Given the description of an element on the screen output the (x, y) to click on. 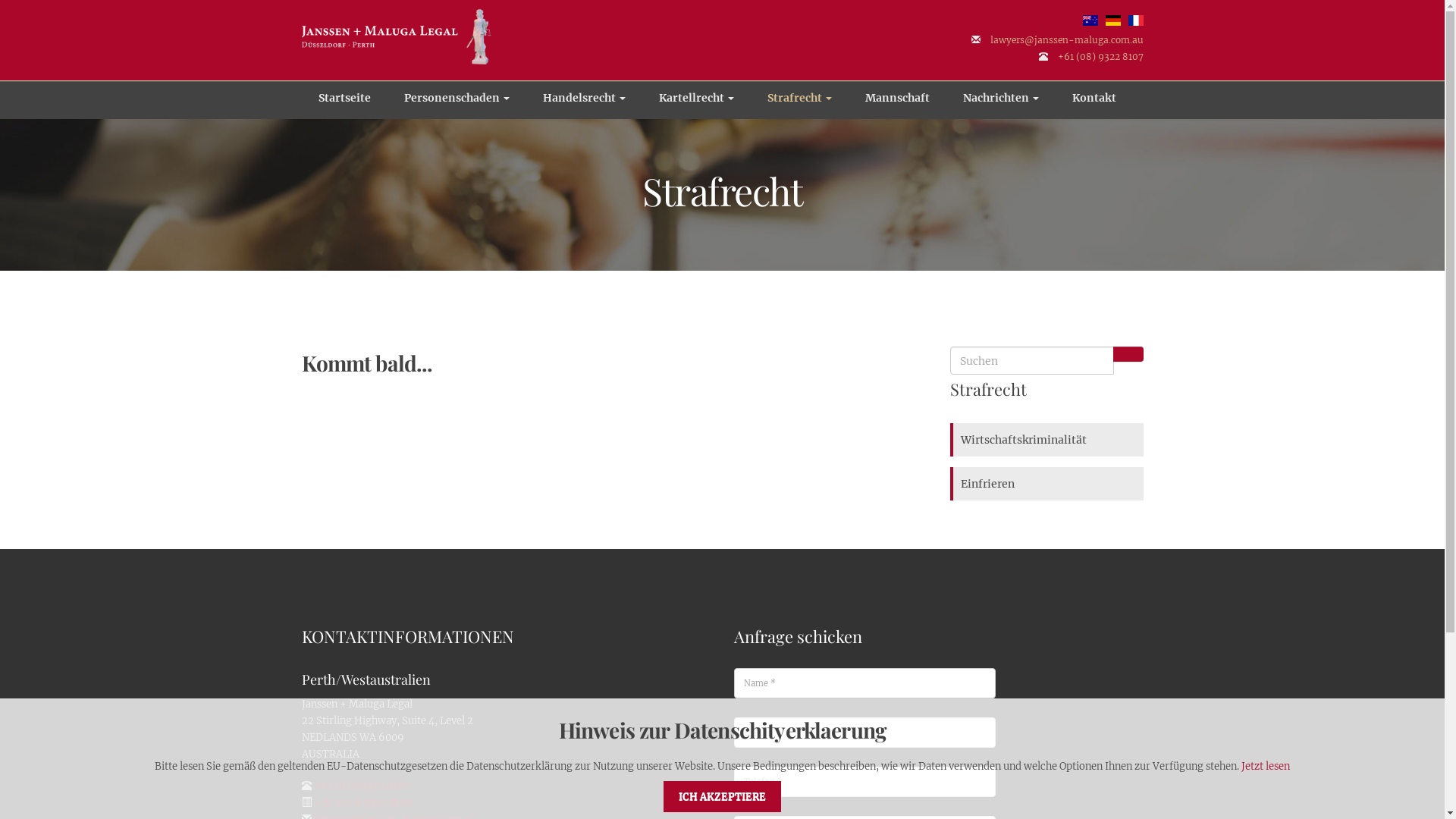
Nachrichten Element type: text (1000, 101)
Strafrecht Element type: text (799, 101)
+61 (08) 9322 8107 Element type: text (1099, 56)
Einfrieren Element type: text (1047, 483)
+61 (0) 8 9322 8107 Element type: text (359, 785)
Mannschaft Element type: text (896, 101)
ICH AKZEPTIERE Element type: text (722, 796)
Handelsrecht Element type: text (584, 101)
Kontakt Element type: text (1093, 101)
lawyers@janssen-maluga.com.au Element type: text (1066, 39)
+ 61 (0) 8 9322 8109 Element type: text (362, 802)
Kartellrecht Element type: text (695, 101)
Startseite Element type: text (344, 101)
Personenschaden Element type: text (455, 101)
Jetzt lesen Element type: text (1265, 765)
